Given the description of an element on the screen output the (x, y) to click on. 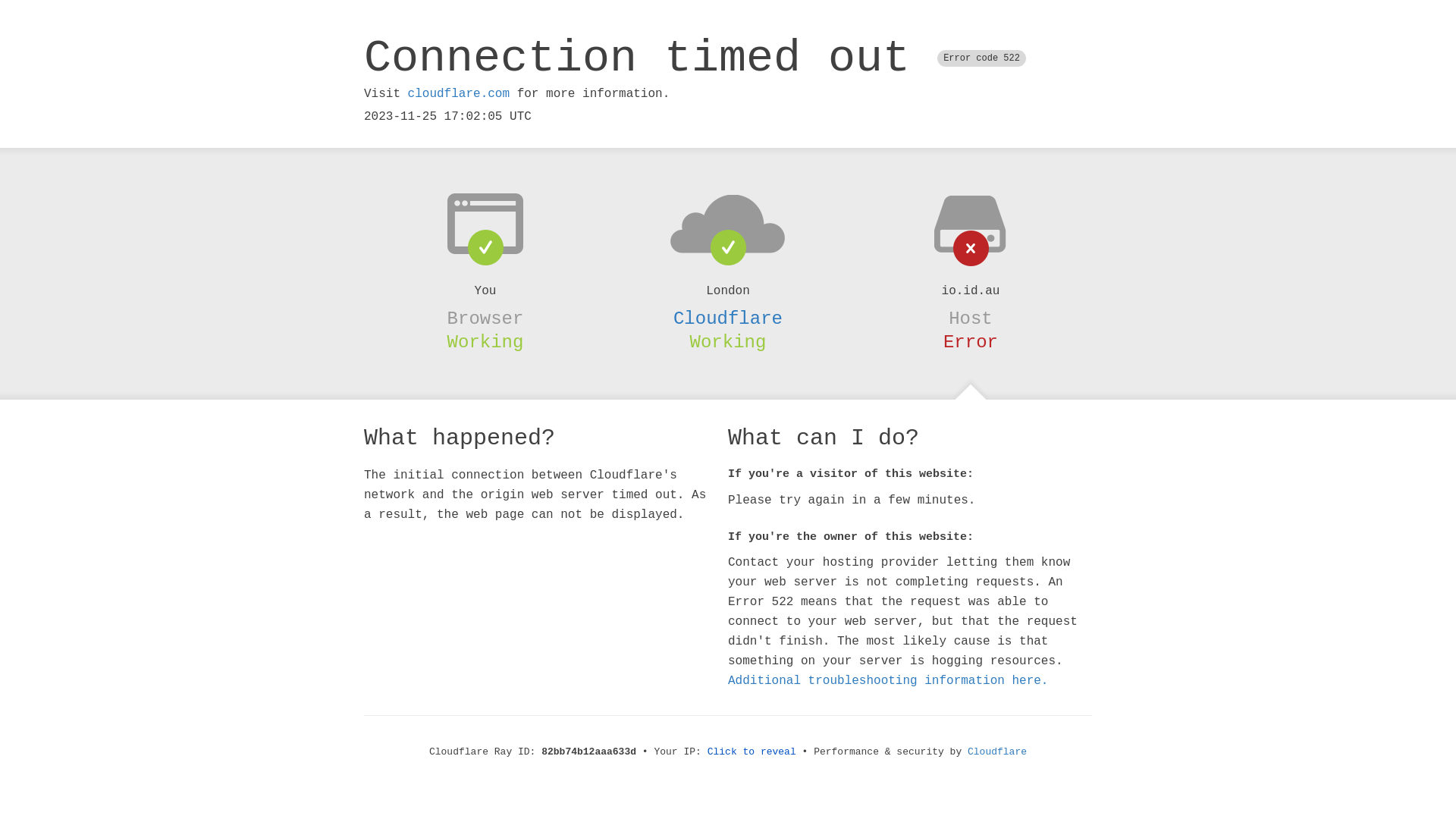
Additional troubleshooting information here. Element type: text (888, 680)
Cloudflare Element type: text (996, 751)
cloudflare.com Element type: text (458, 93)
Cloudflare Element type: text (727, 318)
Click to reveal Element type: text (751, 751)
